Given the description of an element on the screen output the (x, y) to click on. 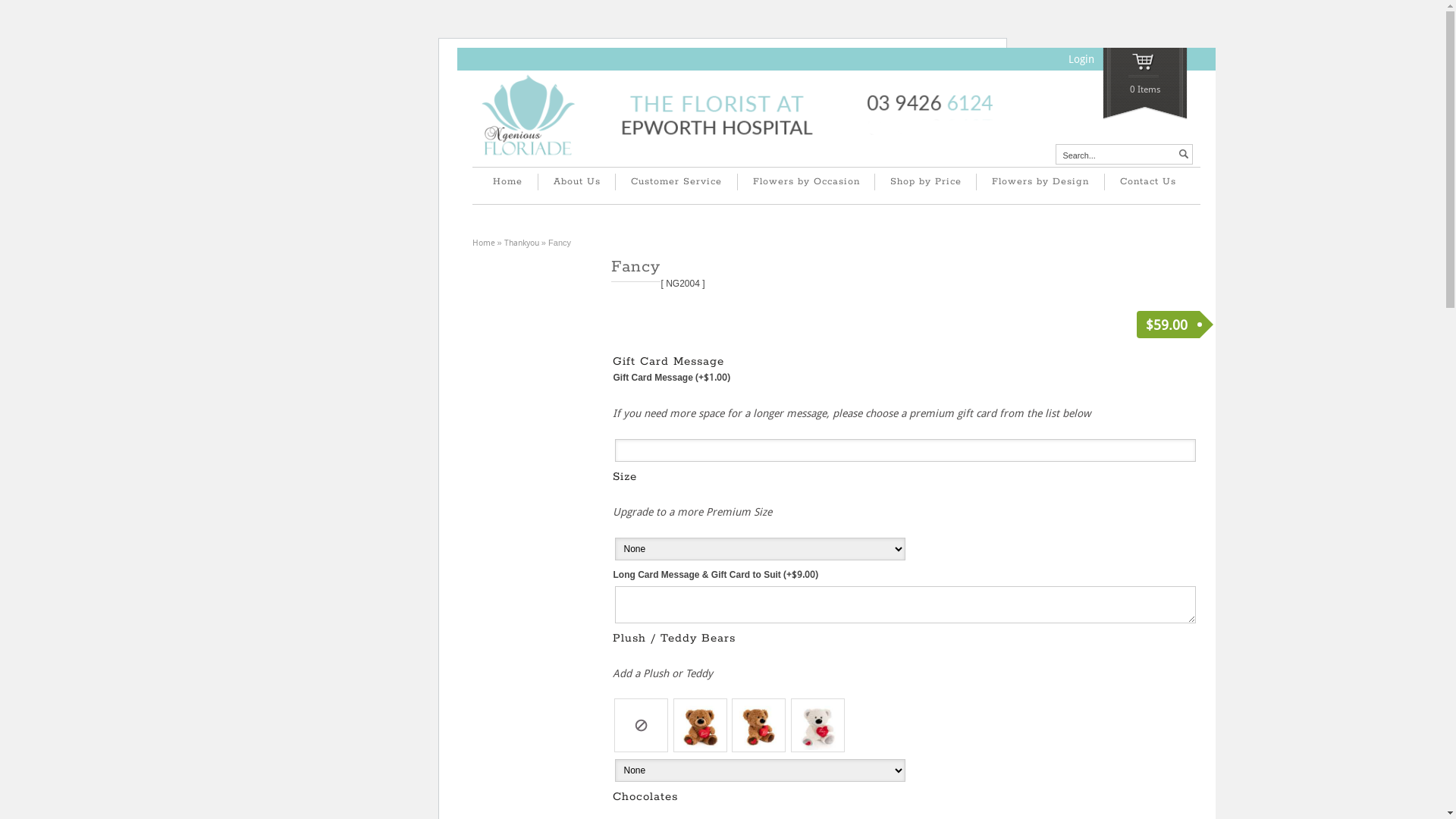
Shop by Price Element type: text (925, 181)
None Element type: hover (641, 725)
Home Element type: text (507, 181)
Thankyou Element type: text (521, 242)
Flowers by Design Element type: text (1039, 181)
Contact Us Element type: text (1147, 181)
Epworth Hospital Florist, Ngenious Floriade Richmond Element type: hover (736, 157)
About Us Element type: text (576, 181)
Login Element type: text (1080, 58)
Customer Service Element type: text (676, 181)
0 Items Element type: text (1144, 83)
  Element type: text (1182, 154)
Flowers by Occasion Element type: text (806, 181)
Home Element type: text (482, 242)
